Given the description of an element on the screen output the (x, y) to click on. 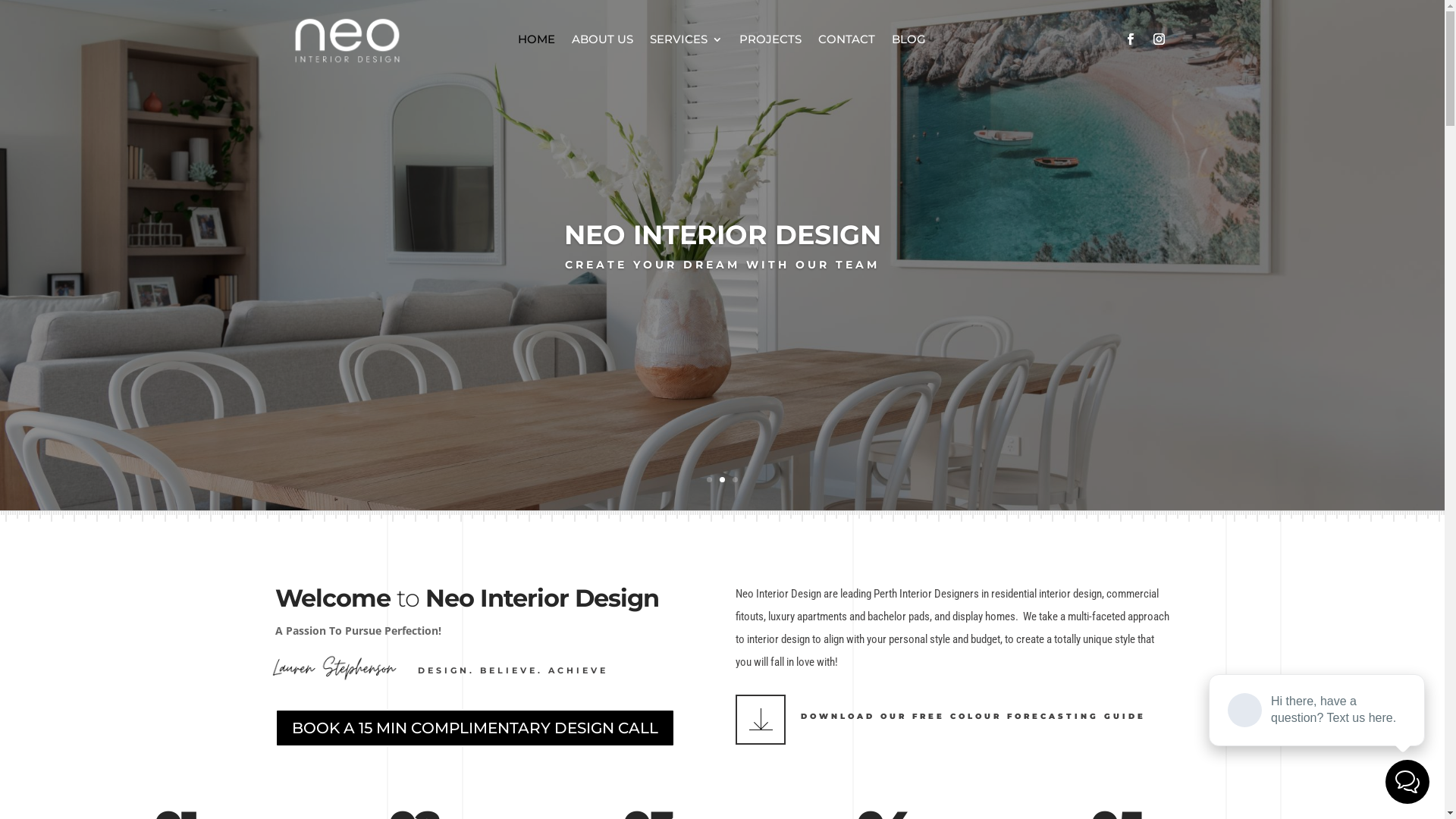
DOWNLOAD OUR FREE COLOUR FORECASTING GUIDE Element type: text (972, 716)
Follow on Instagram Element type: hover (1158, 39)
1 Element type: text (709, 479)
SERVICES Element type: text (685, 42)
Follow on Facebook Element type: hover (1129, 39)
CONTACT Element type: text (846, 42)
neo_interior_design_logo_white_rgb Element type: hover (347, 40)
3 Element type: text (734, 479)
PROJECTS Element type: text (770, 42)
2 Element type: text (721, 479)
BOOK A 15 MIN COMPLIMENTARY DESIGN CALL Element type: text (474, 727)
HOME Element type: text (536, 42)
BLOG Element type: text (908, 42)
ABOUT US Element type: text (602, 42)
